Given the description of an element on the screen output the (x, y) to click on. 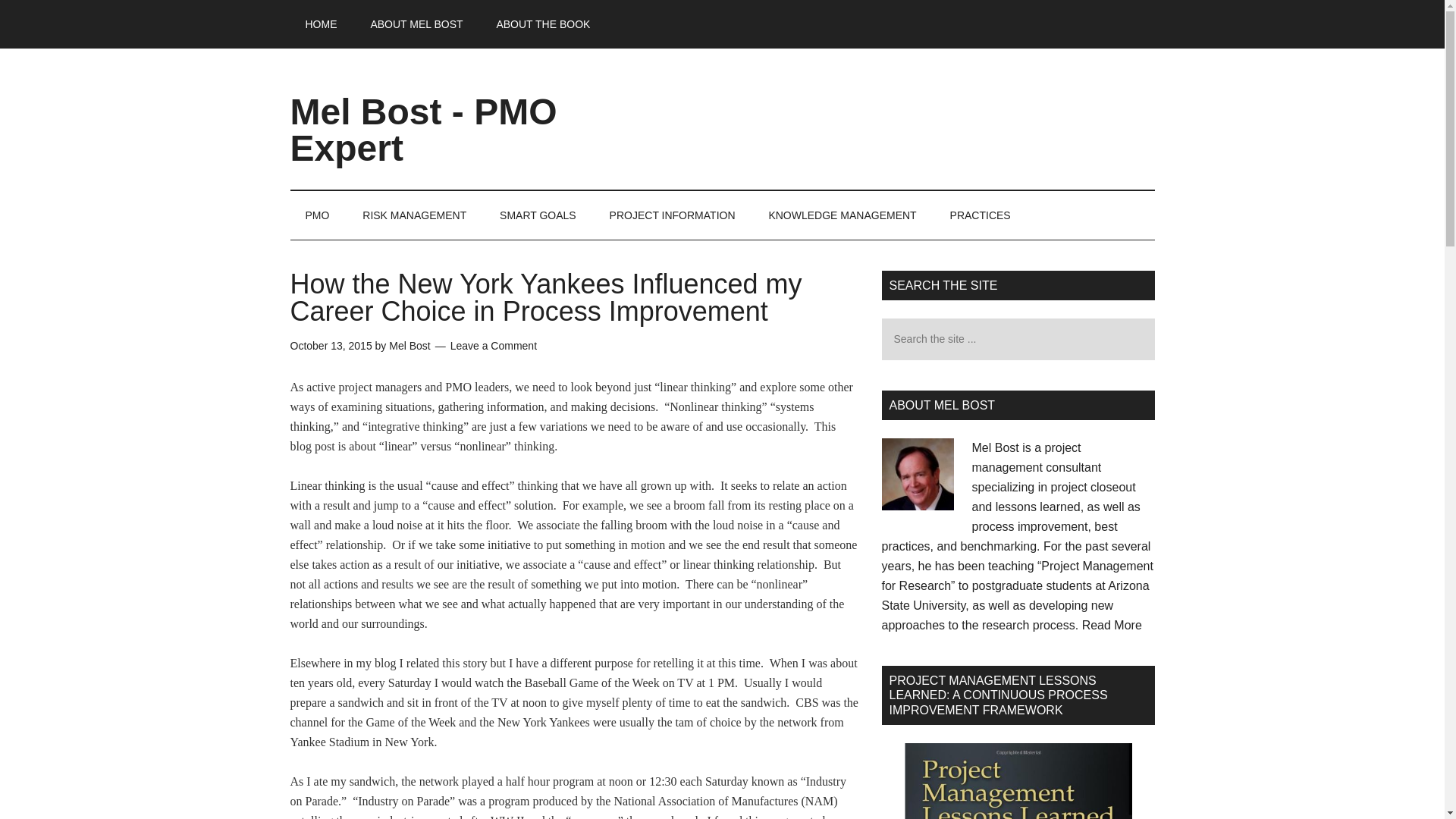
SMART GOALS (537, 214)
Mel Bost - PMO Expert (422, 129)
PRACTICES (980, 214)
Mel Bost (408, 345)
KNOWLEDGE MANAGEMENT (841, 214)
PROJECT INFORMATION (672, 214)
ABOUT MEL BOST (416, 24)
Read More (1111, 625)
PMO (316, 214)
RISK MANAGEMENT (414, 214)
ABOUT THE BOOK (542, 24)
Leave a Comment (493, 345)
